Given the description of an element on the screen output the (x, y) to click on. 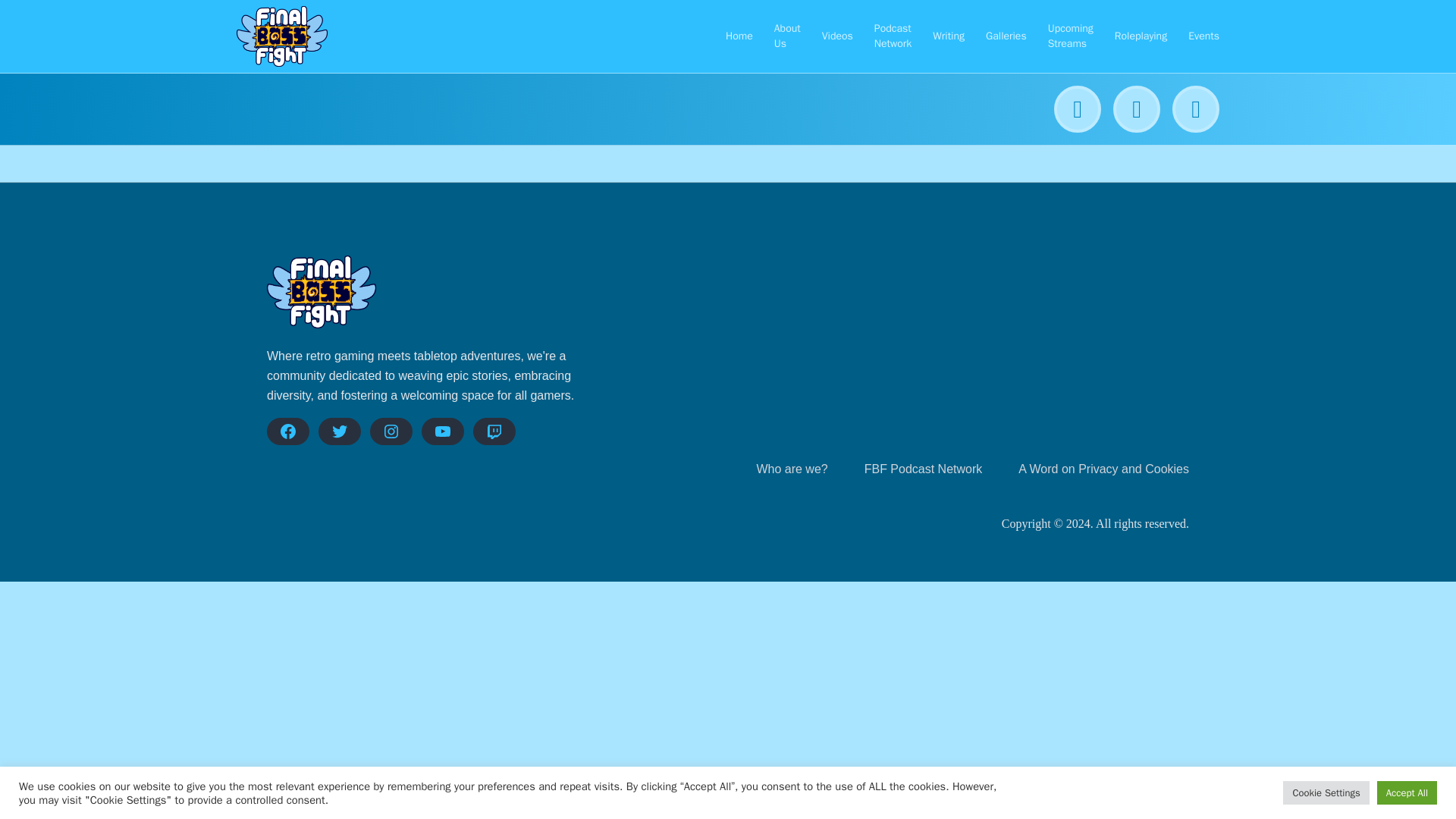
Roleplaying (1141, 35)
Who are we? (791, 468)
Twitter (339, 431)
YouTube (443, 431)
FBF Podcast Network (923, 468)
Twitch (494, 431)
Instagram (390, 431)
A Word on Privacy and Cookies (1103, 468)
Facebook (287, 431)
